Given the description of an element on the screen output the (x, y) to click on. 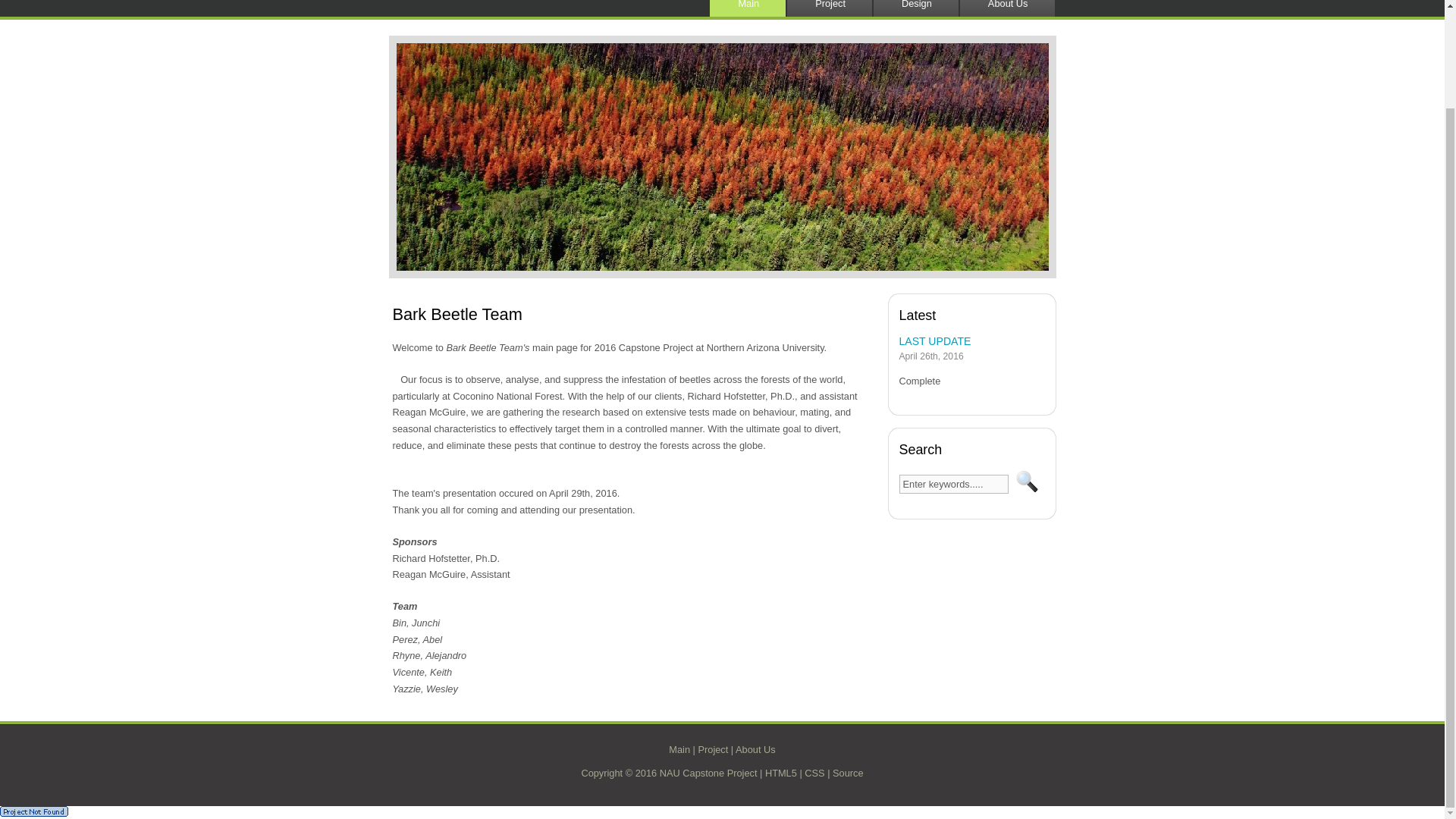
Project (832, 8)
Design (919, 8)
About Us (755, 748)
Enter keywords..... (954, 484)
About Us (1010, 8)
Search (1026, 481)
Project (712, 748)
Main (751, 8)
Source (847, 772)
Enter keywords..... (954, 484)
